Given the description of an element on the screen output the (x, y) to click on. 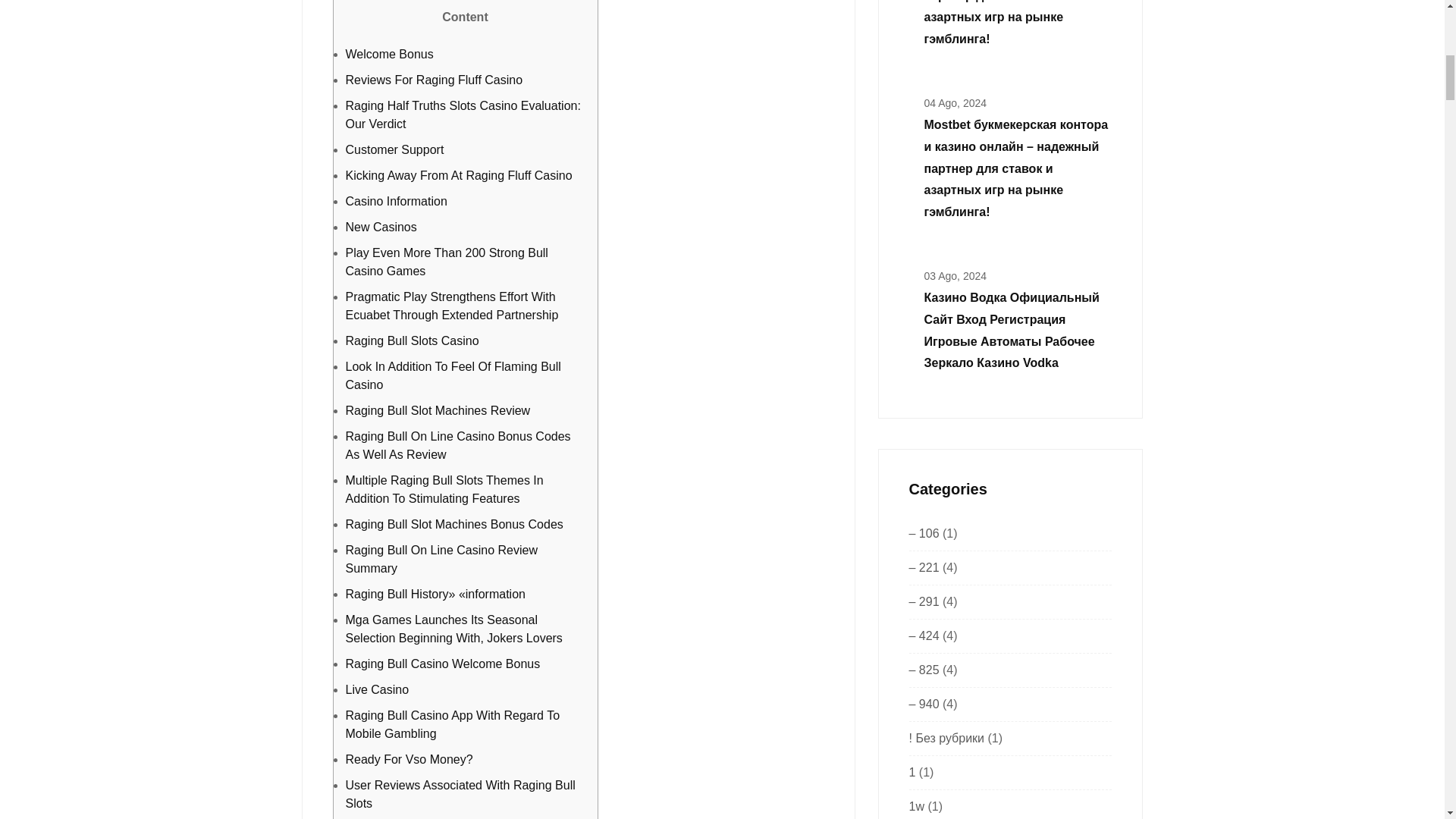
Raging Bull On Line Casino Review Summary (441, 558)
New Casinos (381, 226)
Casino Information (396, 201)
Live Casino (377, 689)
Look In Addition To Feel Of Flaming Bull Casino (453, 375)
Play Even More Than 200 Strong Bull Casino Games (447, 261)
Raging Bull Slot Machines Bonus Codes (454, 523)
Raging Bull Slots Casino (412, 340)
Raging Half Truths Slots Casino Evaluation: Our Verdict (463, 114)
